Given the description of an element on the screen output the (x, y) to click on. 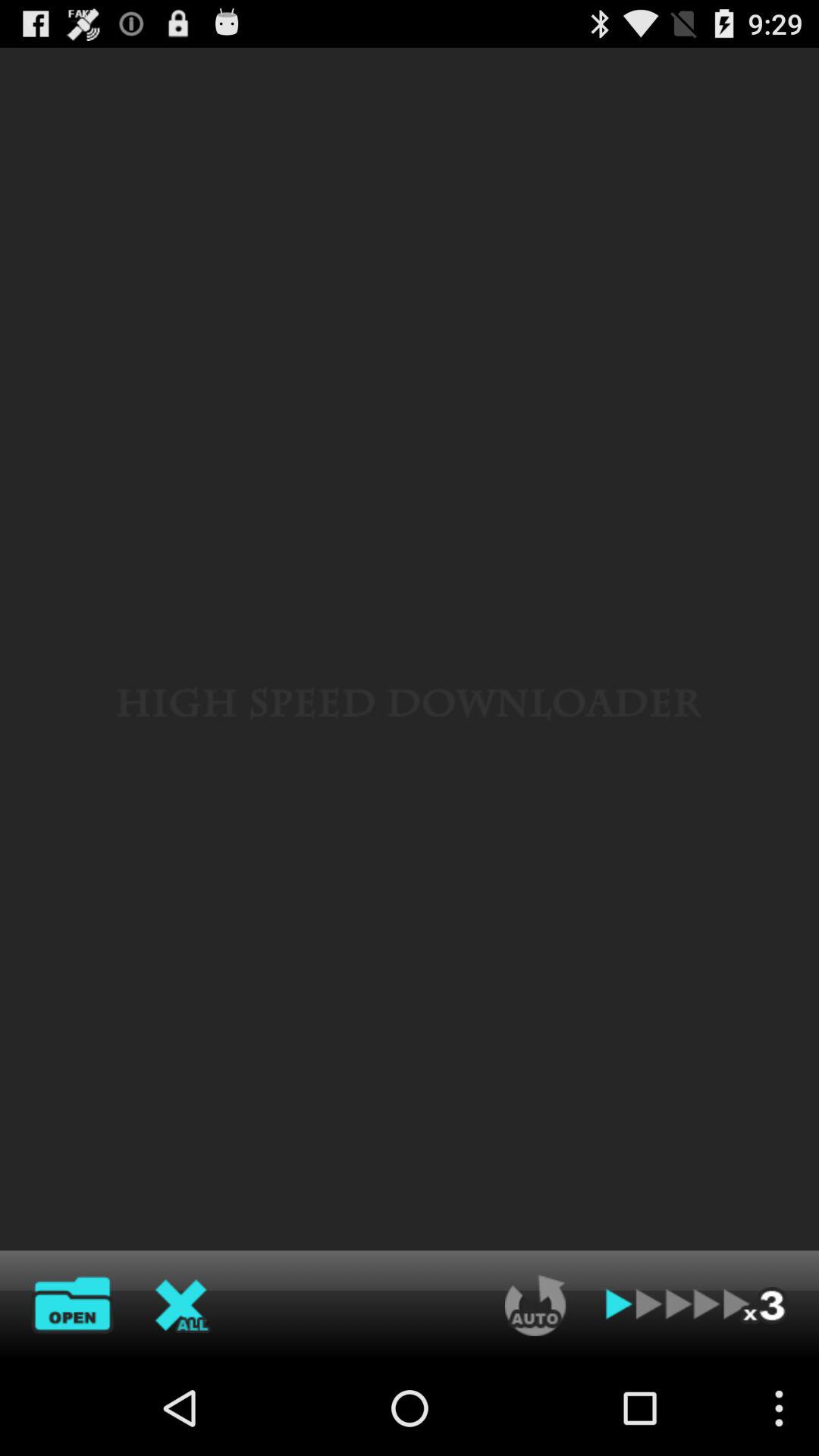
automatically re-play (535, 1305)
